Given the description of an element on the screen output the (x, y) to click on. 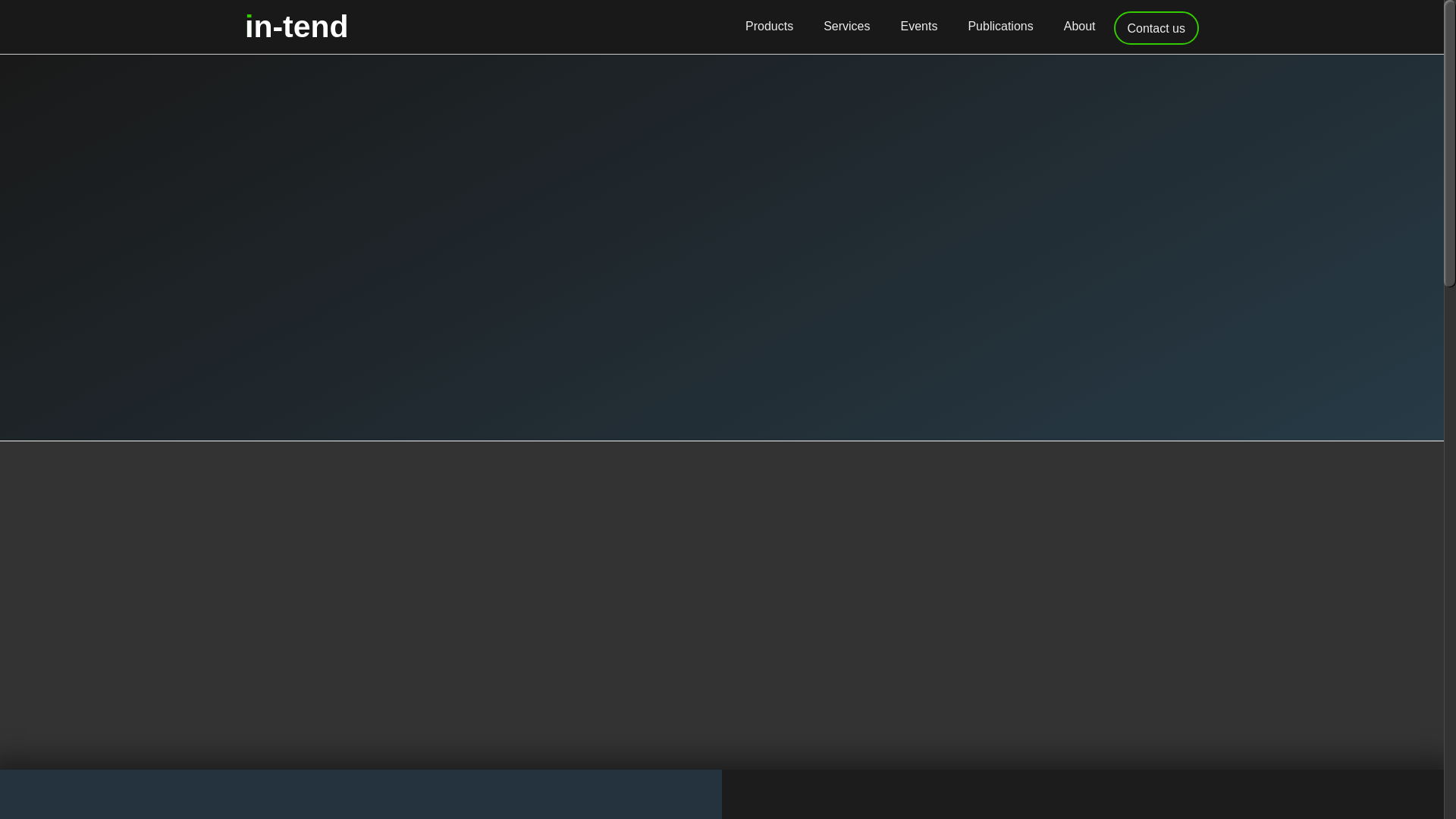
Events (919, 26)
Publications (1000, 26)
Products (769, 26)
Services (296, 26)
Contact us (846, 26)
About (1155, 27)
